Given the description of an element on the screen output the (x, y) to click on. 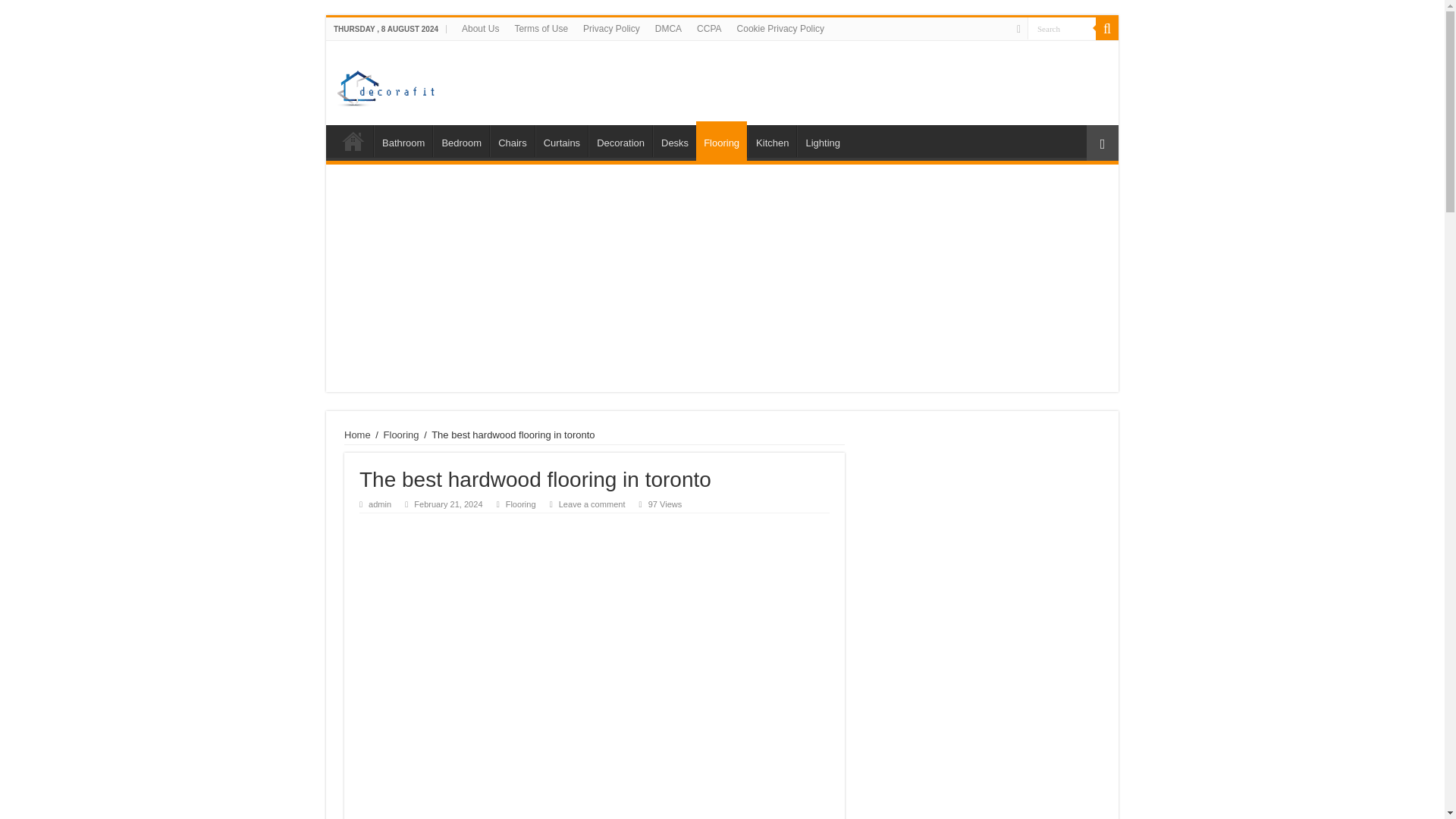
Flooring (401, 434)
Privacy Policy (611, 28)
Desks (673, 141)
Search (1061, 28)
Chairs (511, 141)
Bathroom (403, 141)
Random Article (1102, 142)
decorafit.com (405, 85)
Curtains (561, 141)
Search (1107, 28)
